Given the description of an element on the screen output the (x, y) to click on. 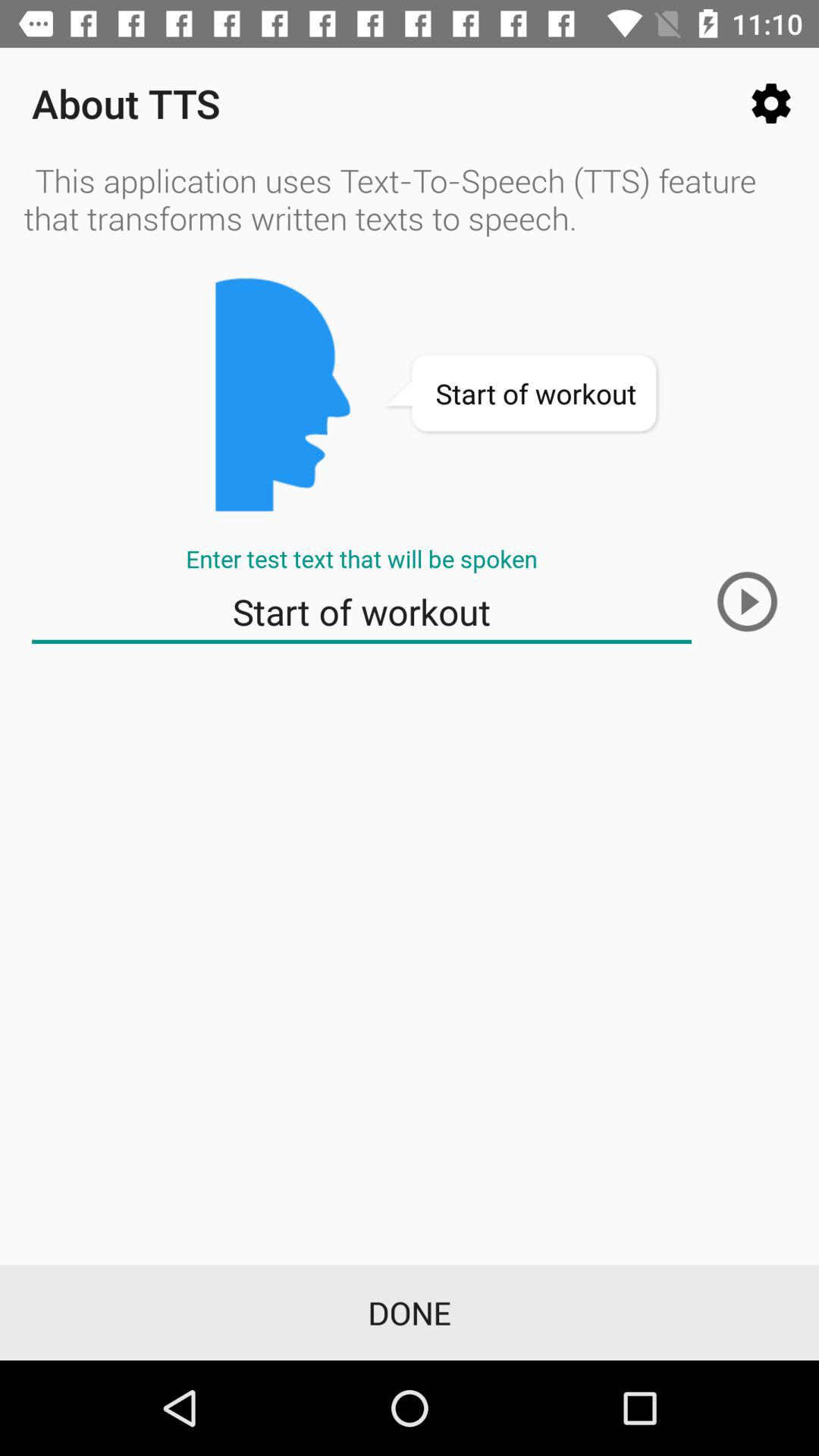
play option (747, 601)
